Given the description of an element on the screen output the (x, y) to click on. 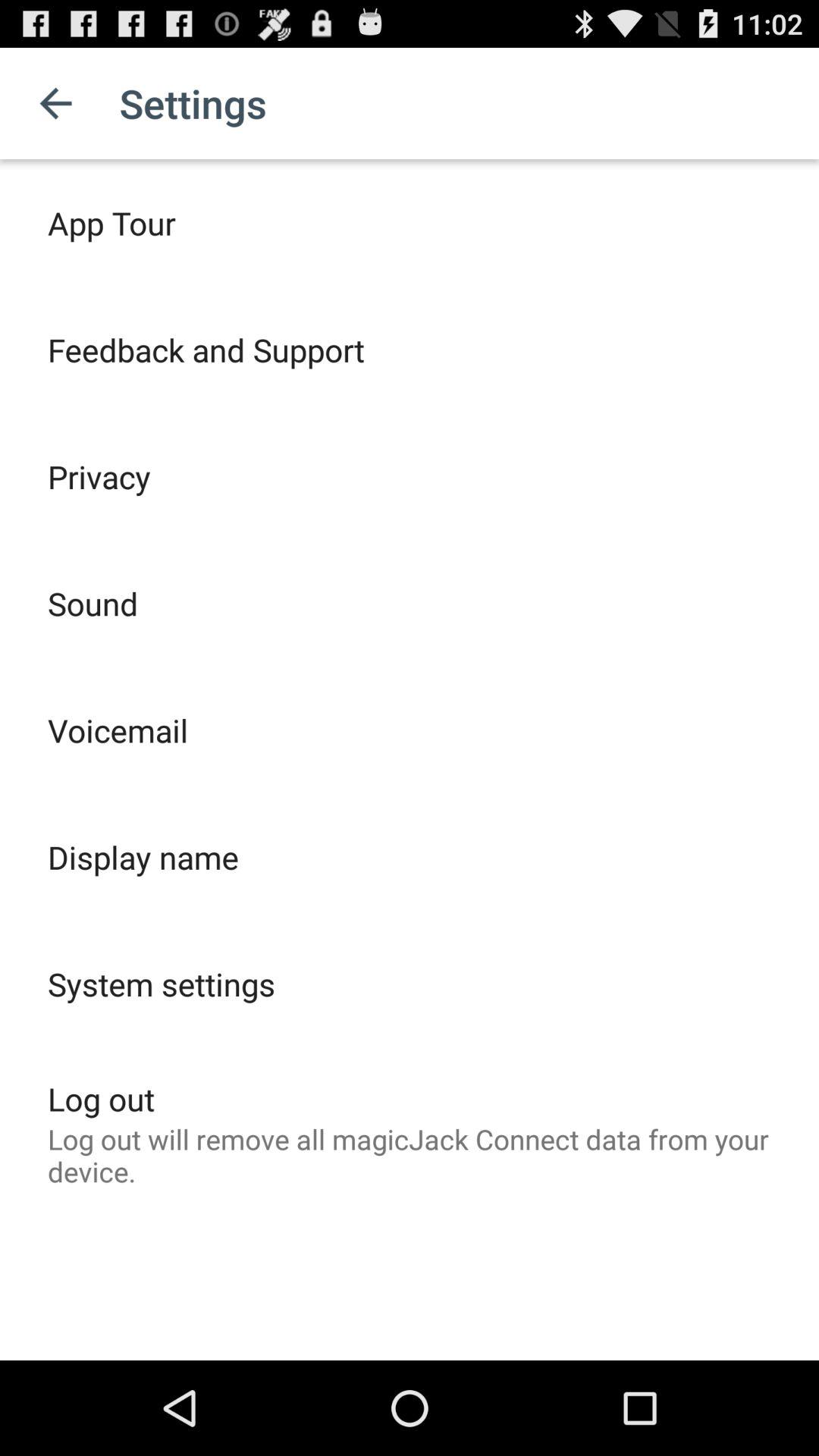
turn on the app to the left of settings icon (55, 103)
